Given the description of an element on the screen output the (x, y) to click on. 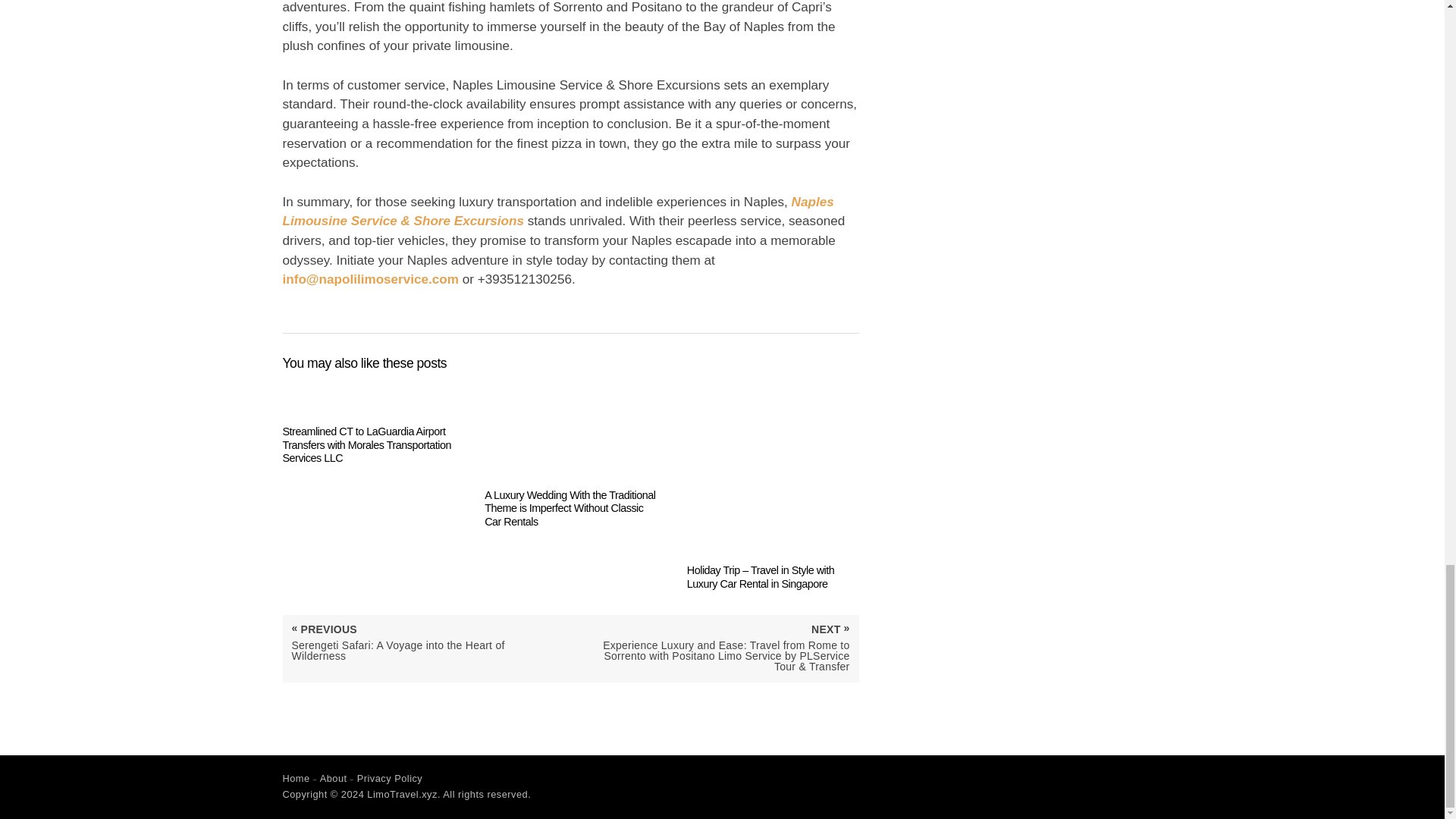
About (333, 778)
Home (295, 778)
Privacy Policy (389, 778)
